Given the description of an element on the screen output the (x, y) to click on. 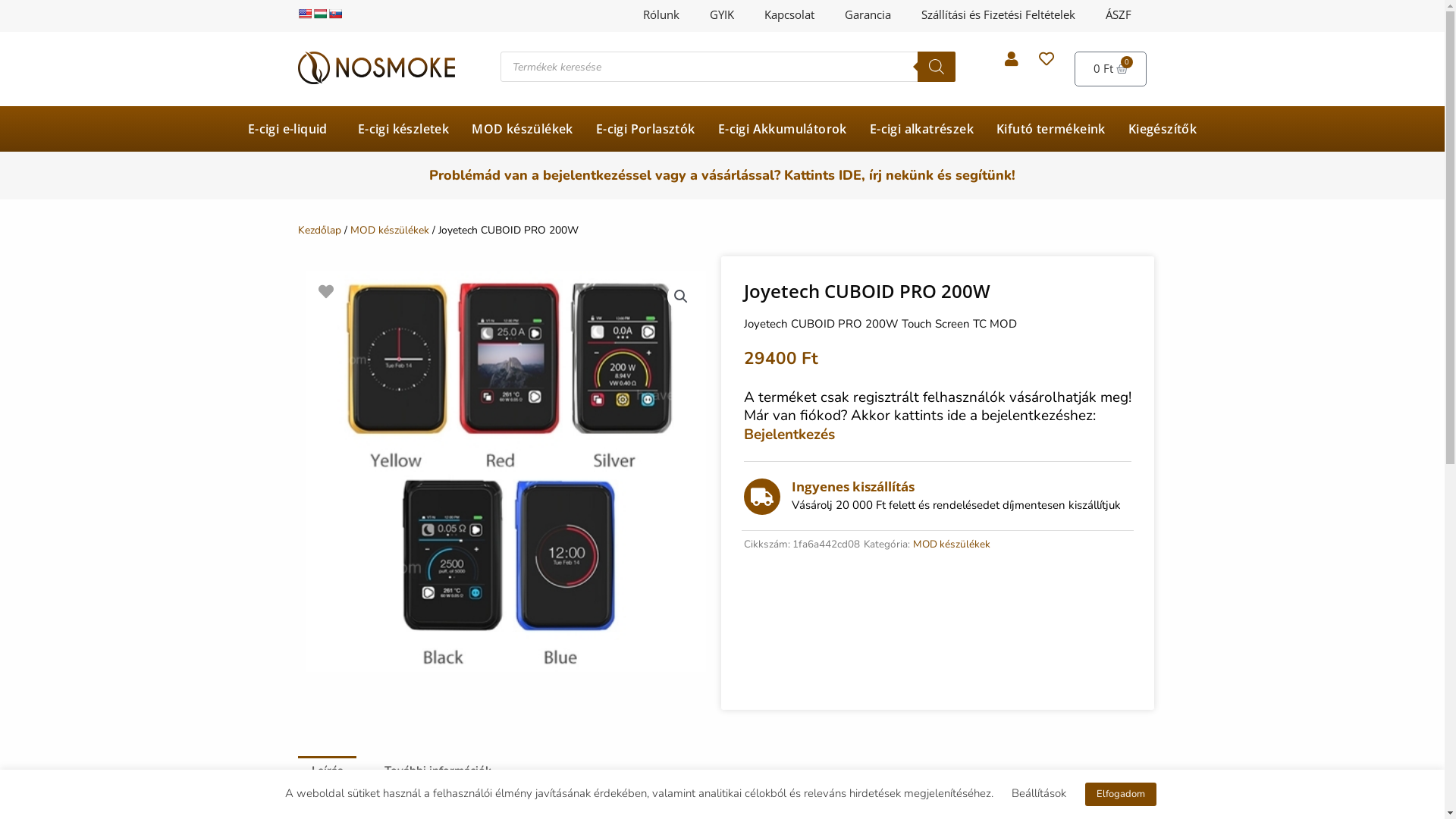
Hungarian Element type: hover (319, 13)
Slovak Element type: hover (334, 13)
Elfogadom Element type: text (1119, 794)
cuboid_pro Element type: hover (504, 471)
GYIK Element type: text (721, 14)
Garancia Element type: text (867, 14)
Kapcsolat Element type: text (789, 14)
E-cigi e-liquid Element type: text (291, 129)
0 Ft
0 Element type: text (1110, 68)
English Element type: hover (303, 13)
